Given the description of an element on the screen output the (x, y) to click on. 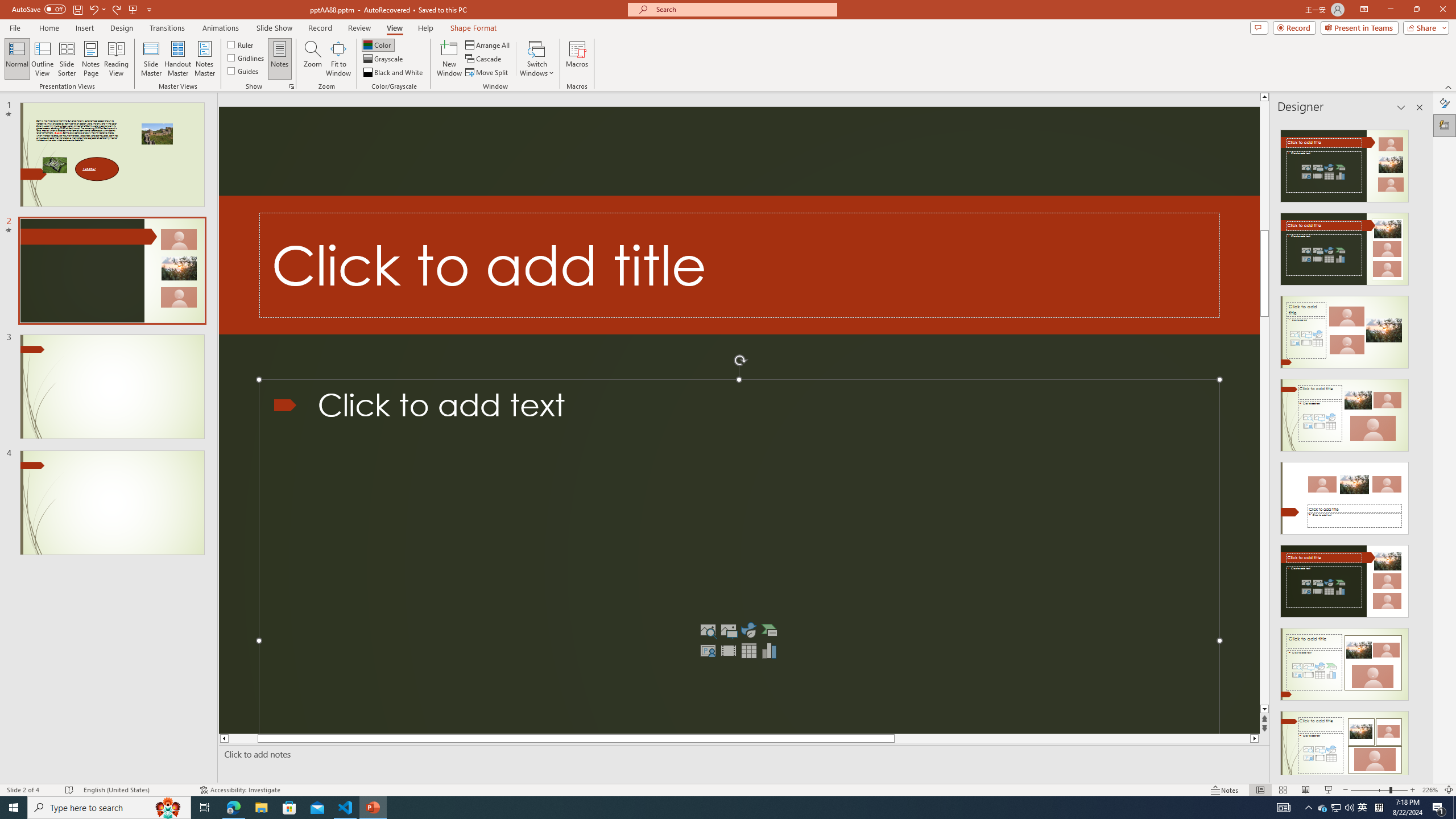
Slide Notes (741, 754)
Arrange All (488, 44)
Insert Video (728, 650)
Macros (576, 58)
Page down (1264, 557)
